Given the description of an element on the screen output the (x, y) to click on. 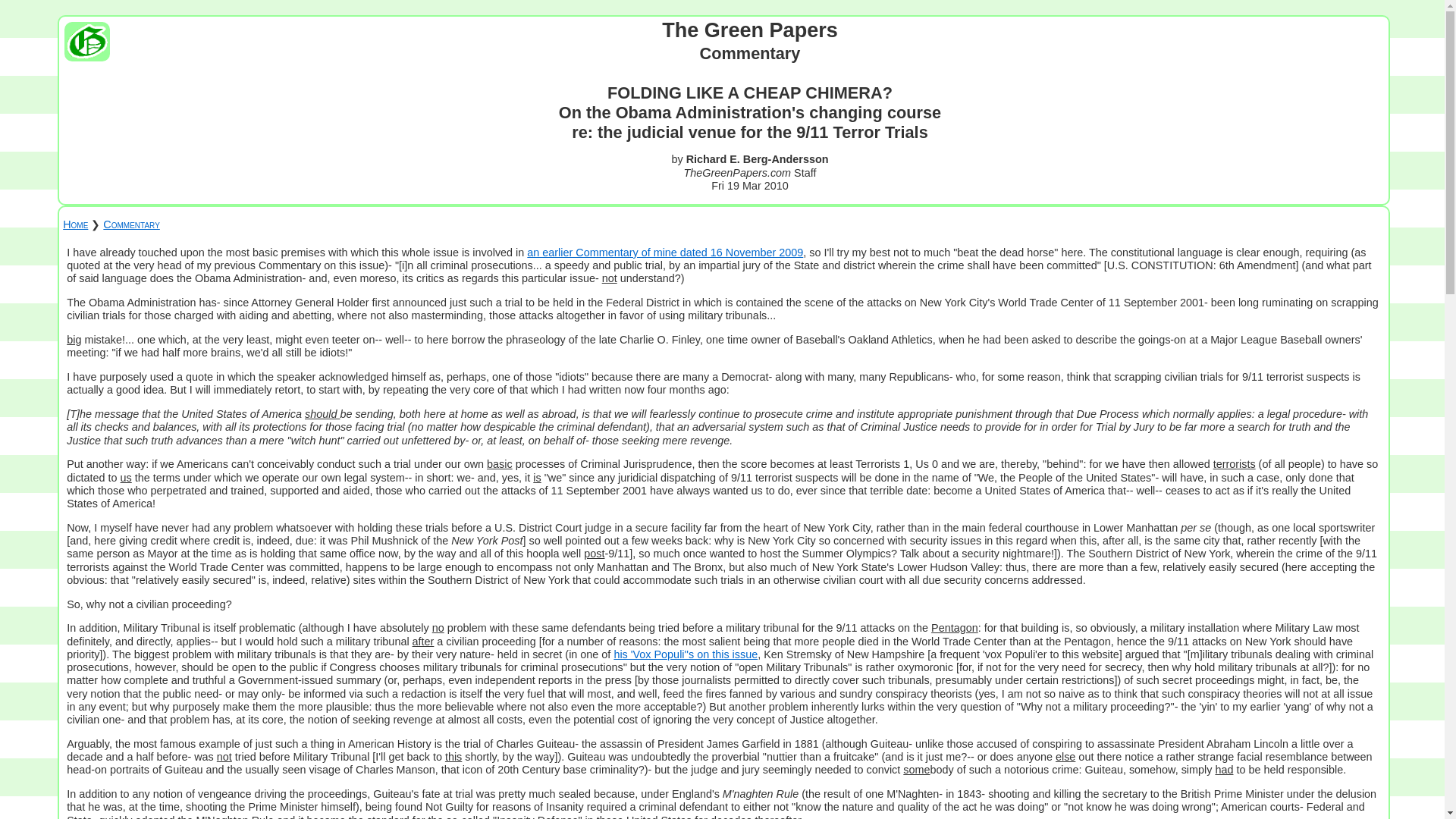
Home (74, 224)
his 'Vox Populi''s on this issue (684, 654)
an earlier Commentary of mine dated 16 November 2009 (665, 252)
Commentary (130, 224)
